Given the description of an element on the screen output the (x, y) to click on. 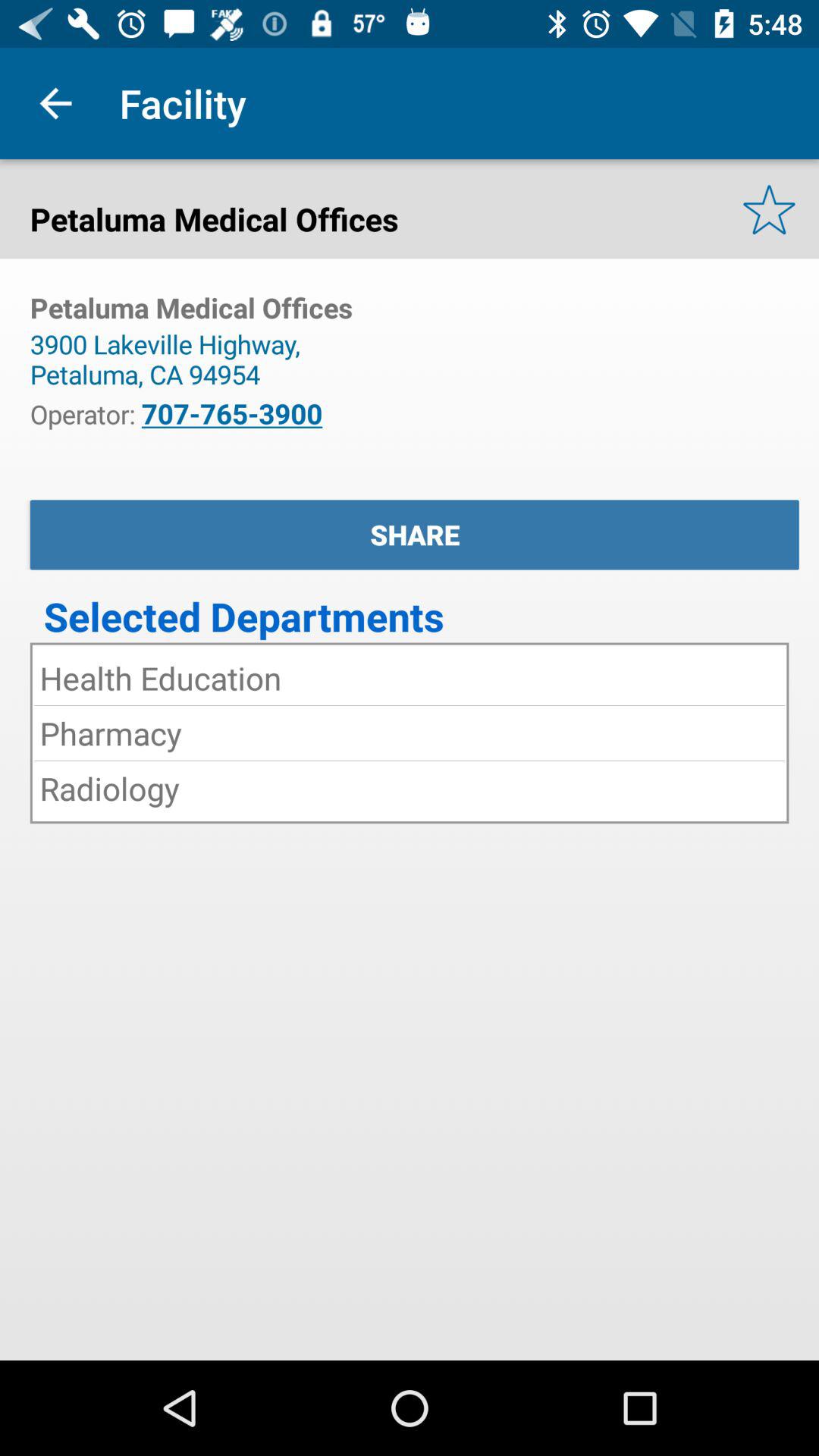
select the icon at the top right corner (769, 208)
